Given the description of an element on the screen output the (x, y) to click on. 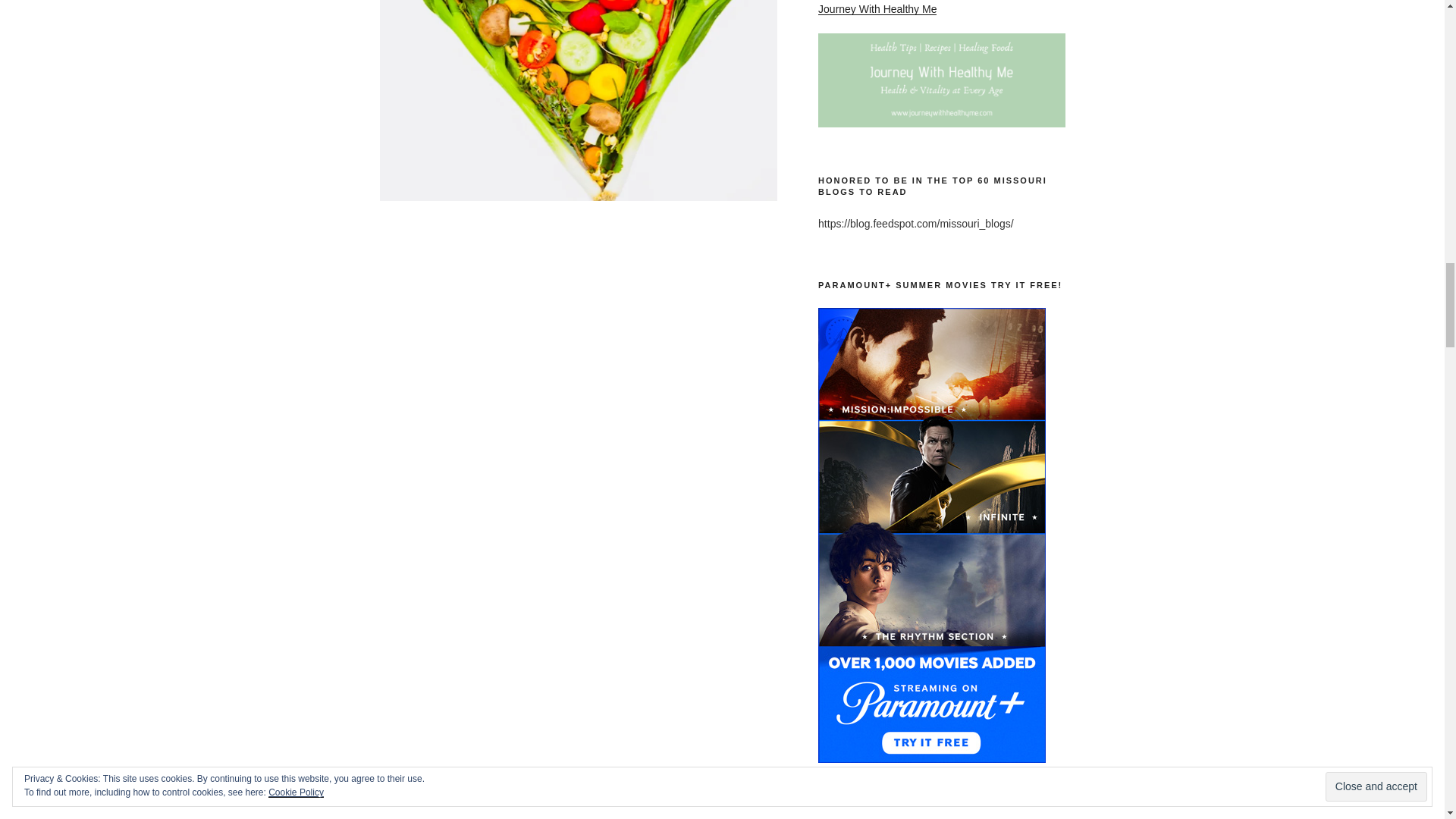
Journey With Healthy Me (877, 9)
